Given the description of an element on the screen output the (x, y) to click on. 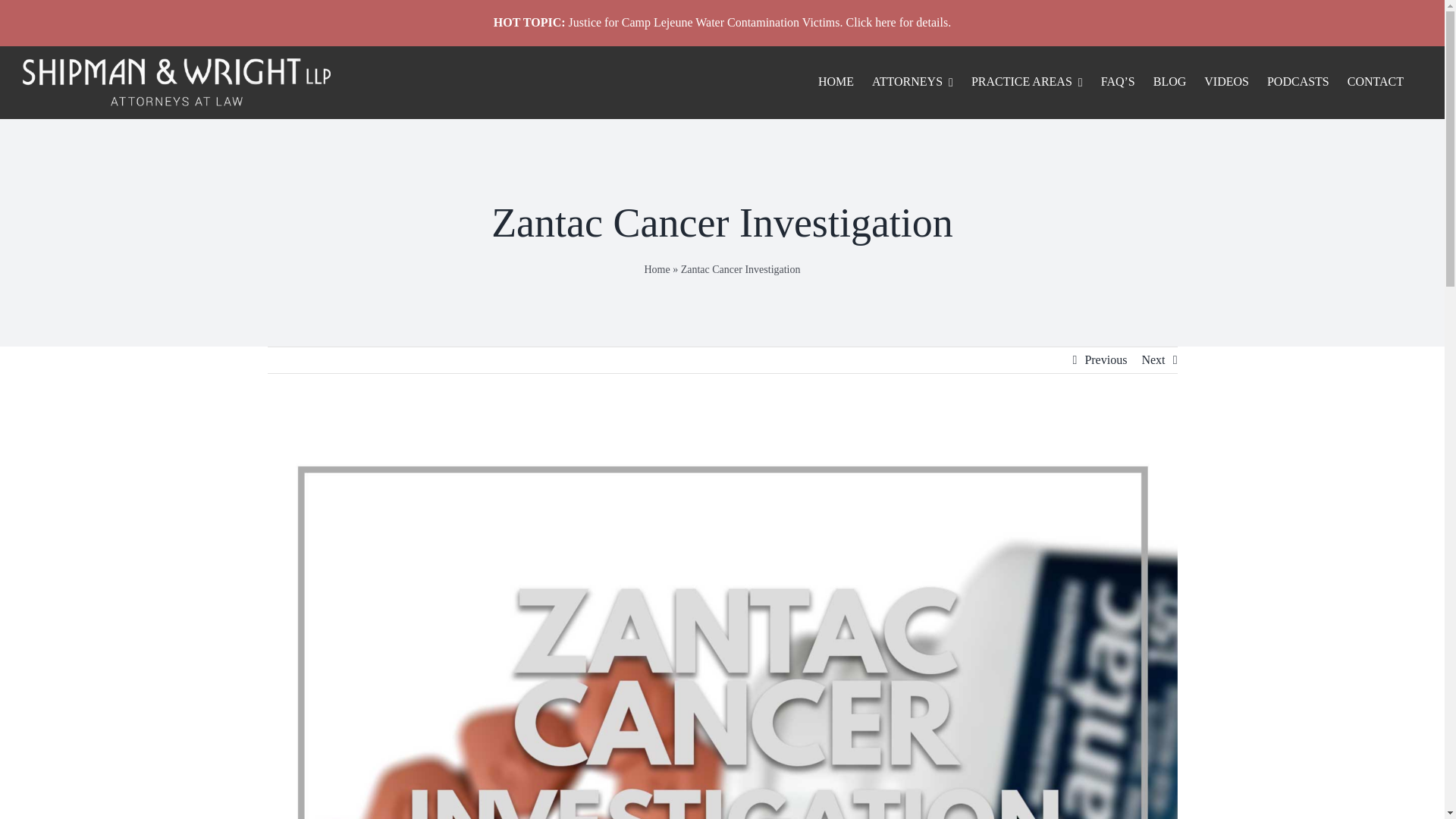
BLOG (1179, 82)
Next (1152, 360)
CONTACT (1385, 82)
shipmanLogowhite (176, 82)
PODCASTS (1307, 82)
Home (656, 269)
ATTORNEYS (921, 82)
HOME (845, 82)
Previous (1105, 360)
